Given the description of an element on the screen output the (x, y) to click on. 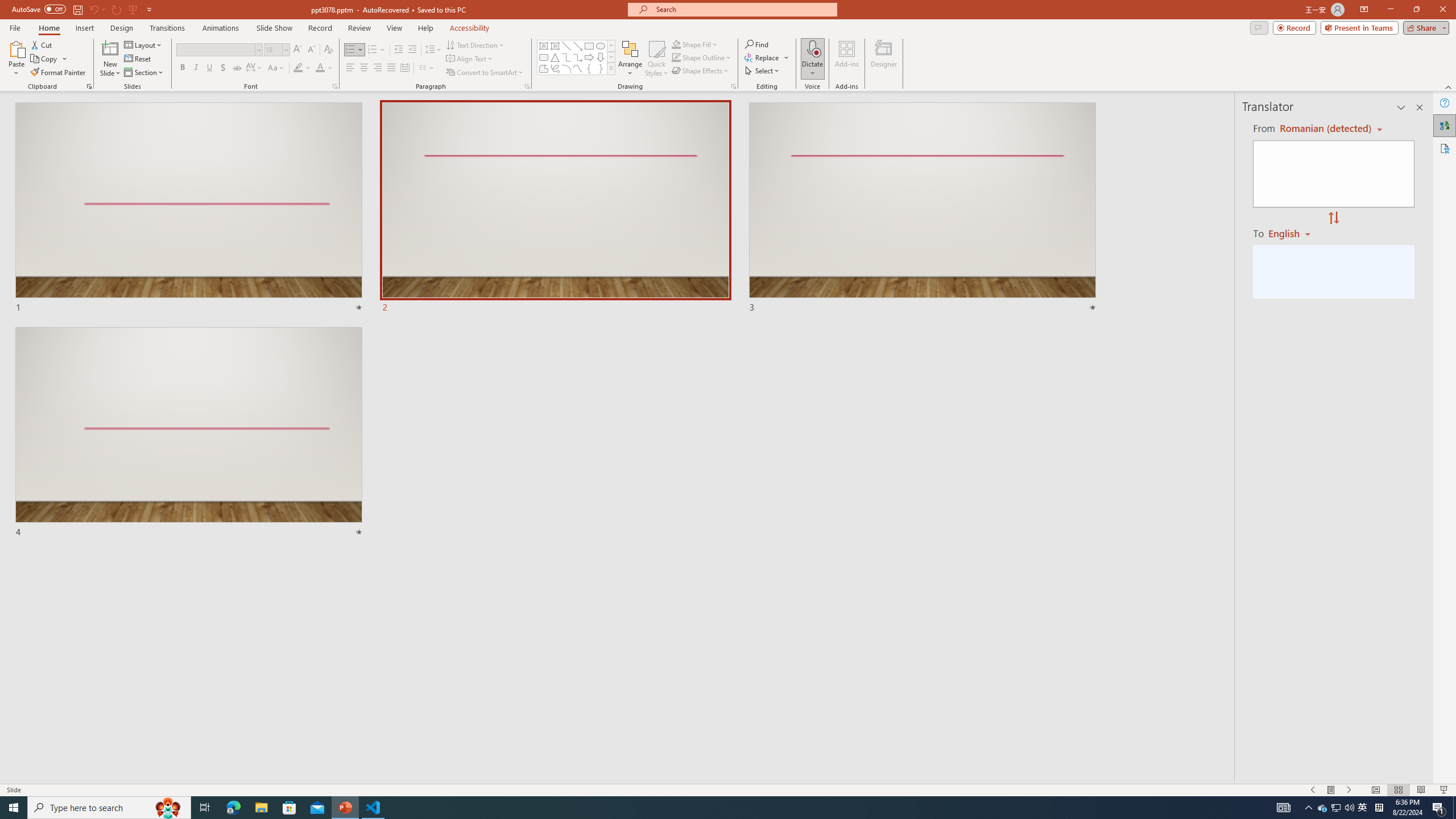
Slide Show Next On (1349, 790)
Shape Outline Green, Accent 1 (675, 56)
